Given the description of an element on the screen output the (x, y) to click on. 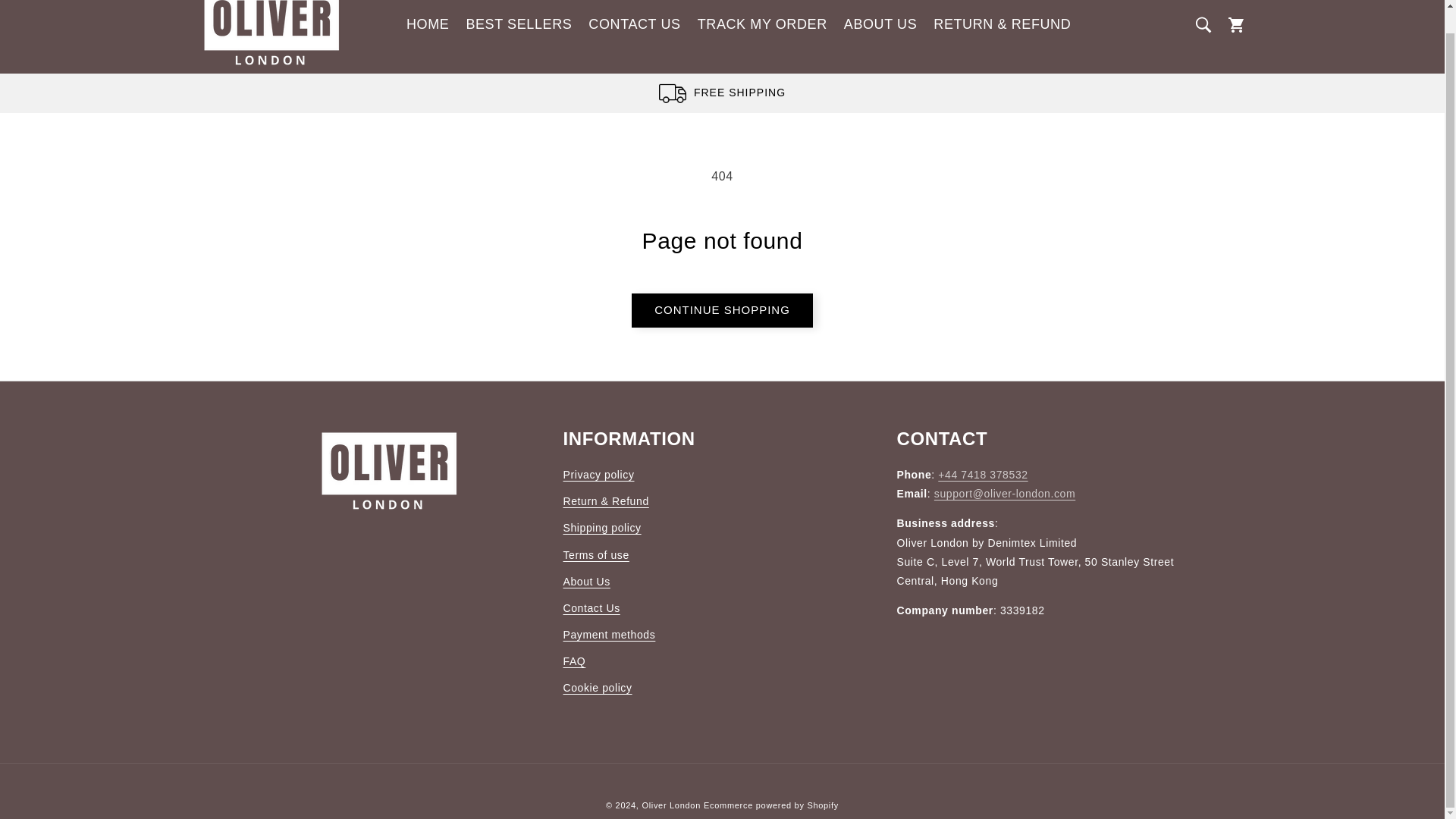
Cookie policy (596, 687)
Oliver London (671, 804)
TRACK MY ORDER (761, 24)
Ecommerce powered by Shopify (770, 804)
Contact Us (591, 608)
HOME (427, 24)
Shipping policy (601, 528)
About Us (586, 581)
Privacy policy (597, 477)
CONTACT US (633, 24)
SKIP TO CONTENT (45, 4)
Terms of use (595, 555)
Payment methods (608, 634)
BEST SELLERS (518, 24)
Cart (1236, 24)
